Given the description of an element on the screen output the (x, y) to click on. 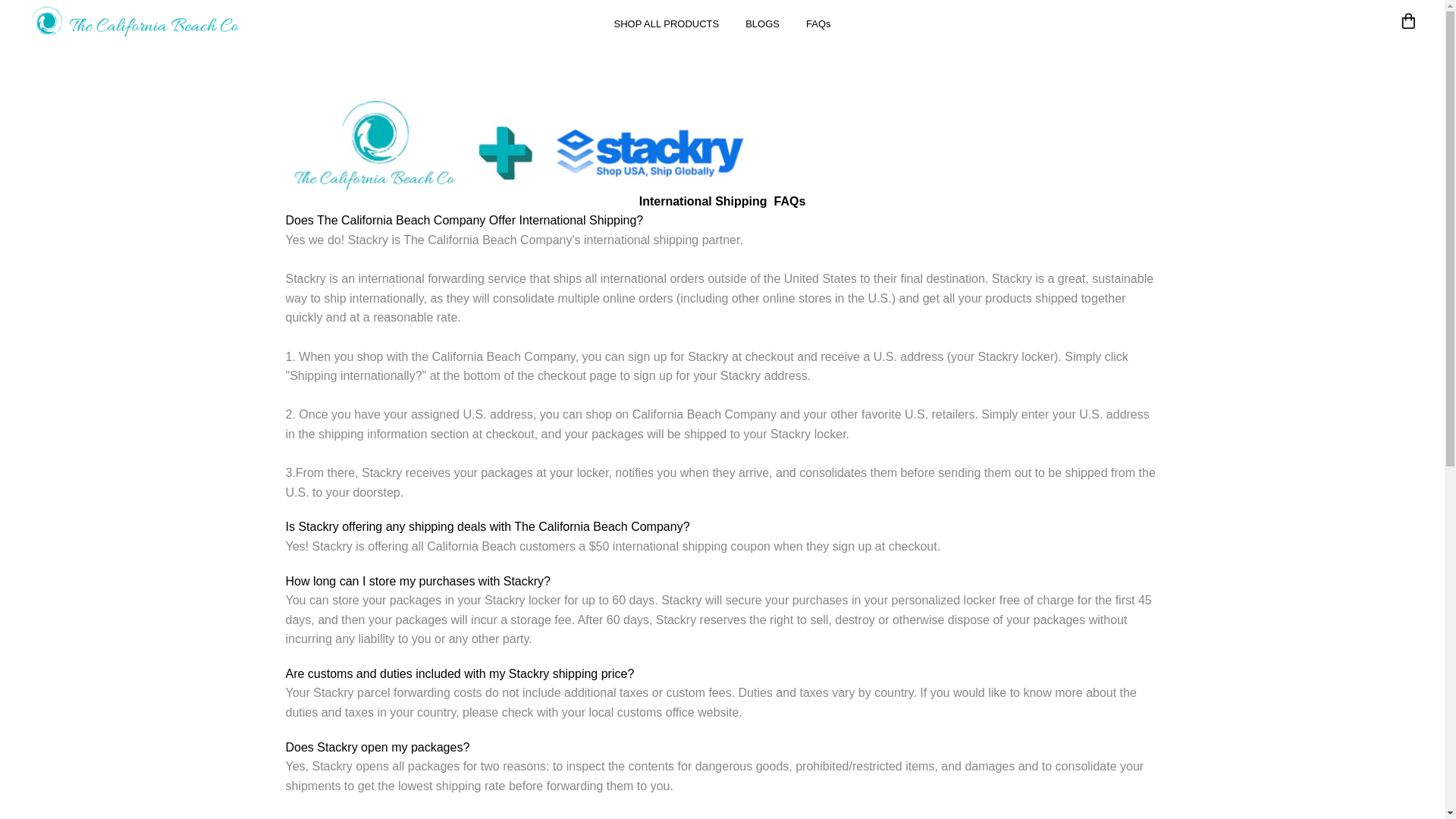
SHOP ALL PRODUCTS (665, 23)
FAQs (818, 23)
Skip to Footer (10, 7)
BLOGS (762, 23)
